Given the description of an element on the screen output the (x, y) to click on. 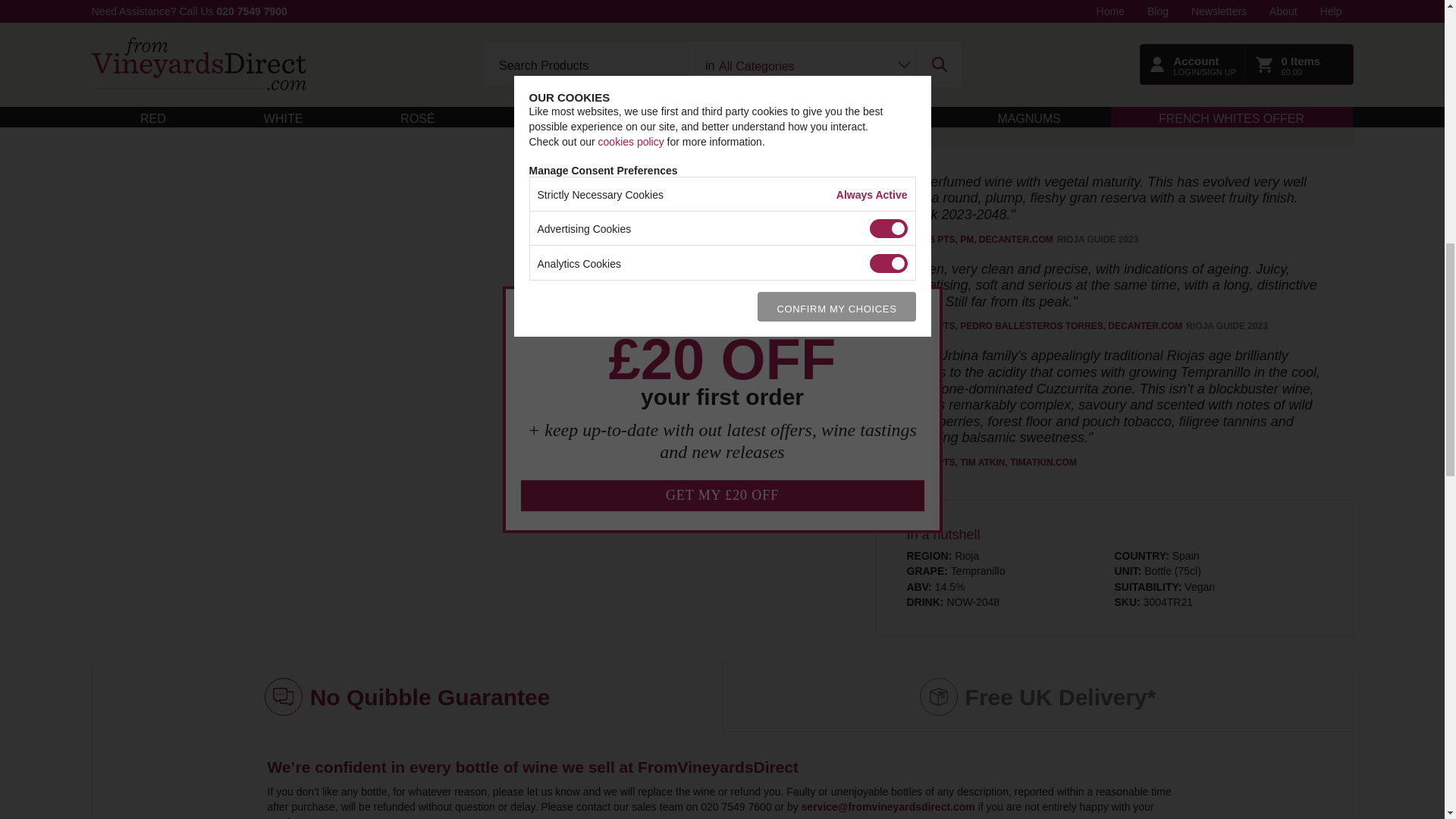
Rioja Gran Reserva, Bodegas Urbina 2004 (470, 2)
